Given the description of an element on the screen output the (x, y) to click on. 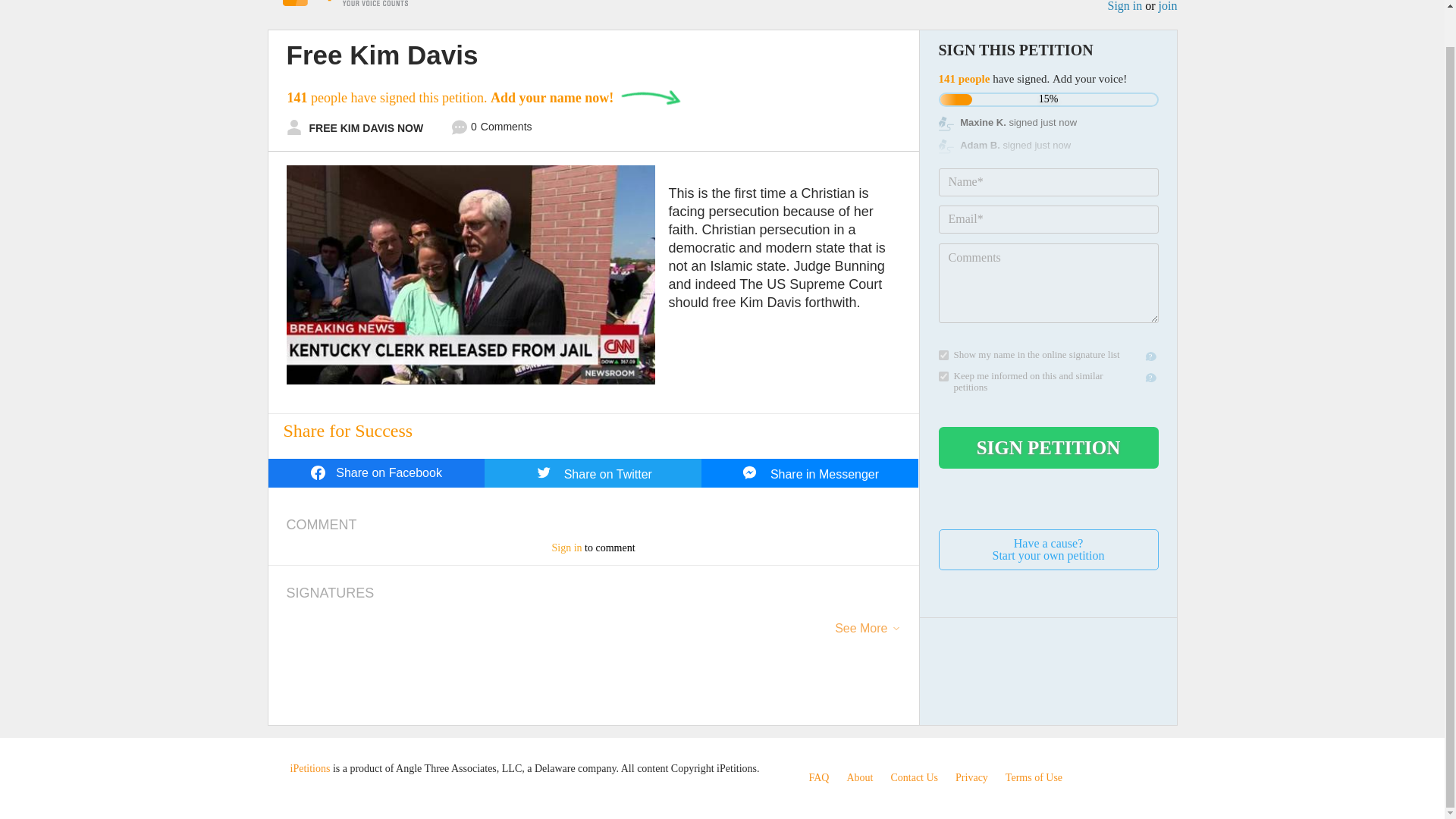
1 (944, 376)
Share on Facebook (375, 472)
Frequently Asked Question (818, 777)
1 (944, 355)
SIGN PETITION (1048, 447)
Contact Us (913, 777)
0 Comments (491, 128)
Share in Messenger (809, 472)
About (858, 777)
Sign in (565, 547)
Sign in (1123, 6)
join (1048, 549)
FAQ (1167, 6)
Terms of Use (818, 777)
